Given the description of an element on the screen output the (x, y) to click on. 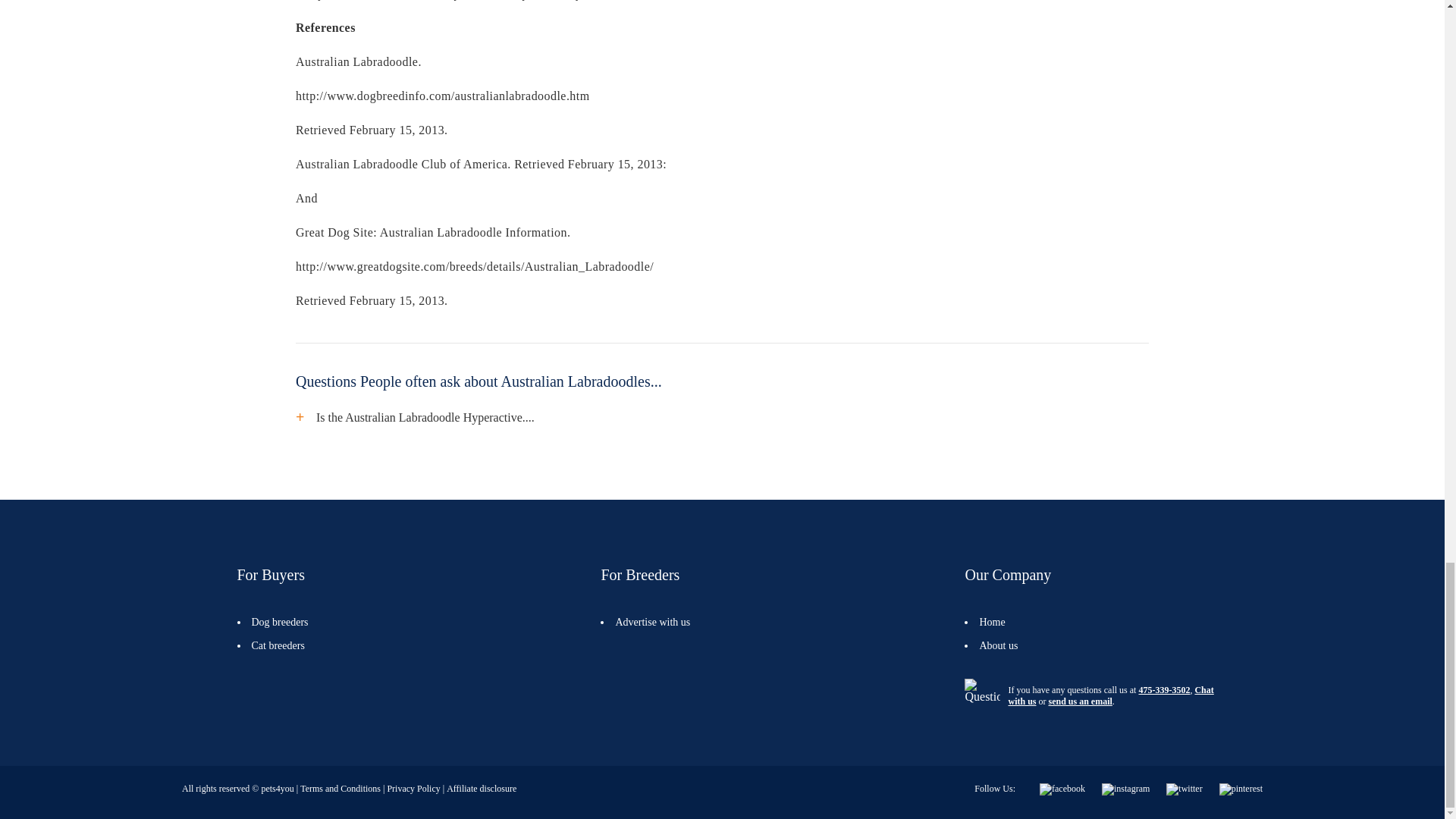
Terms and Conditions (337, 787)
About us (997, 645)
Chat with us (1109, 694)
475-339-3502 (1163, 689)
Affiliate disclosure (478, 787)
Privacy Policy (410, 787)
Dog breeders (279, 622)
Home (991, 622)
Cat breeders (277, 645)
send us an email (1080, 701)
